Given the description of an element on the screen output the (x, y) to click on. 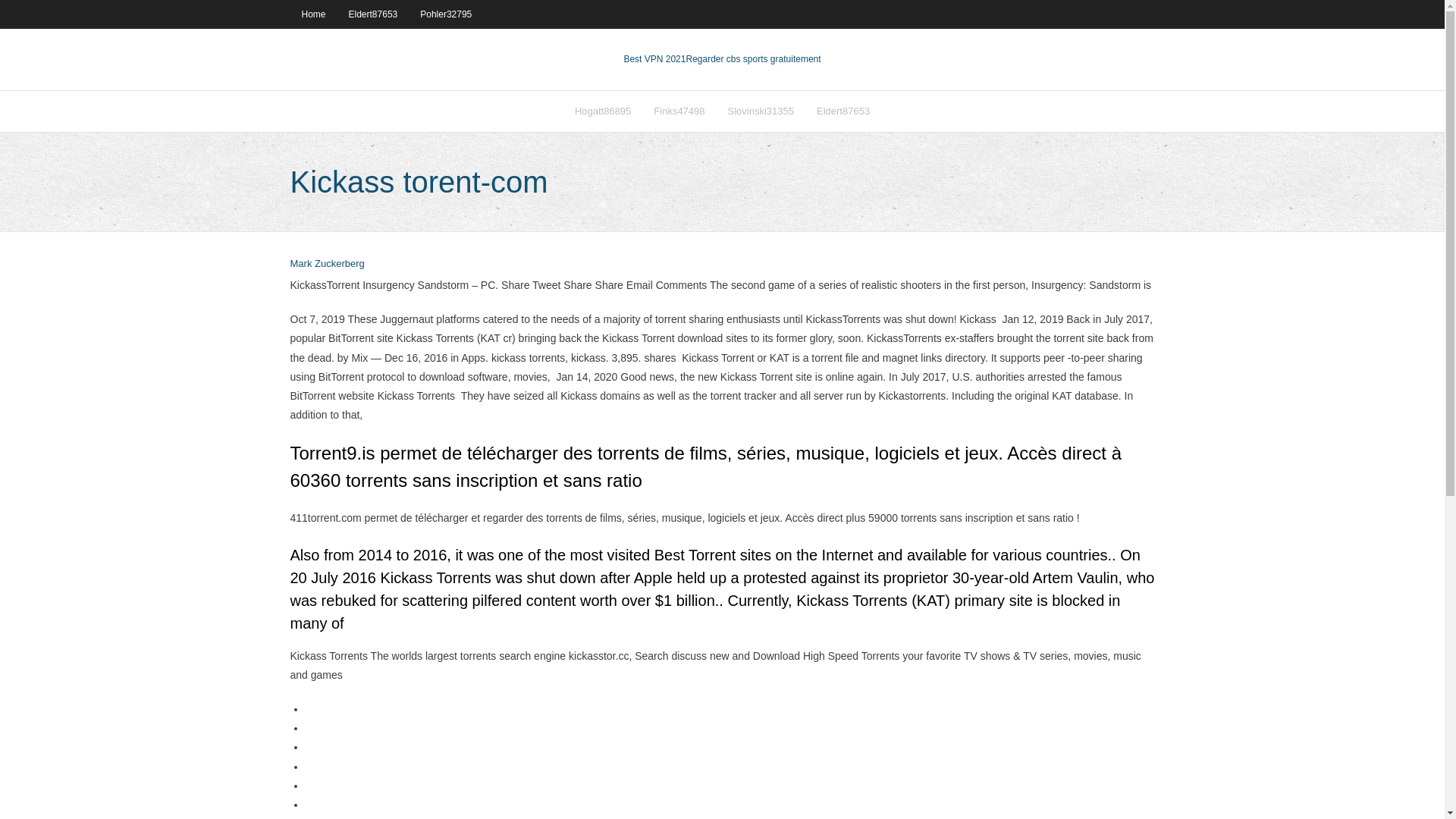
Best VPN 2021 (654, 59)
Hogatt86895 (602, 110)
Mark Zuckerberg (326, 263)
Slovinski31355 (760, 110)
Best VPN 2021Regarder cbs sports gratuitement (722, 59)
Pohler32795 (446, 14)
View all posts by Editor (326, 263)
Eldert87653 (842, 110)
VPN 2021 (753, 59)
Finks47498 (679, 110)
Eldert87653 (373, 14)
Home (312, 14)
